Given the description of an element on the screen output the (x, y) to click on. 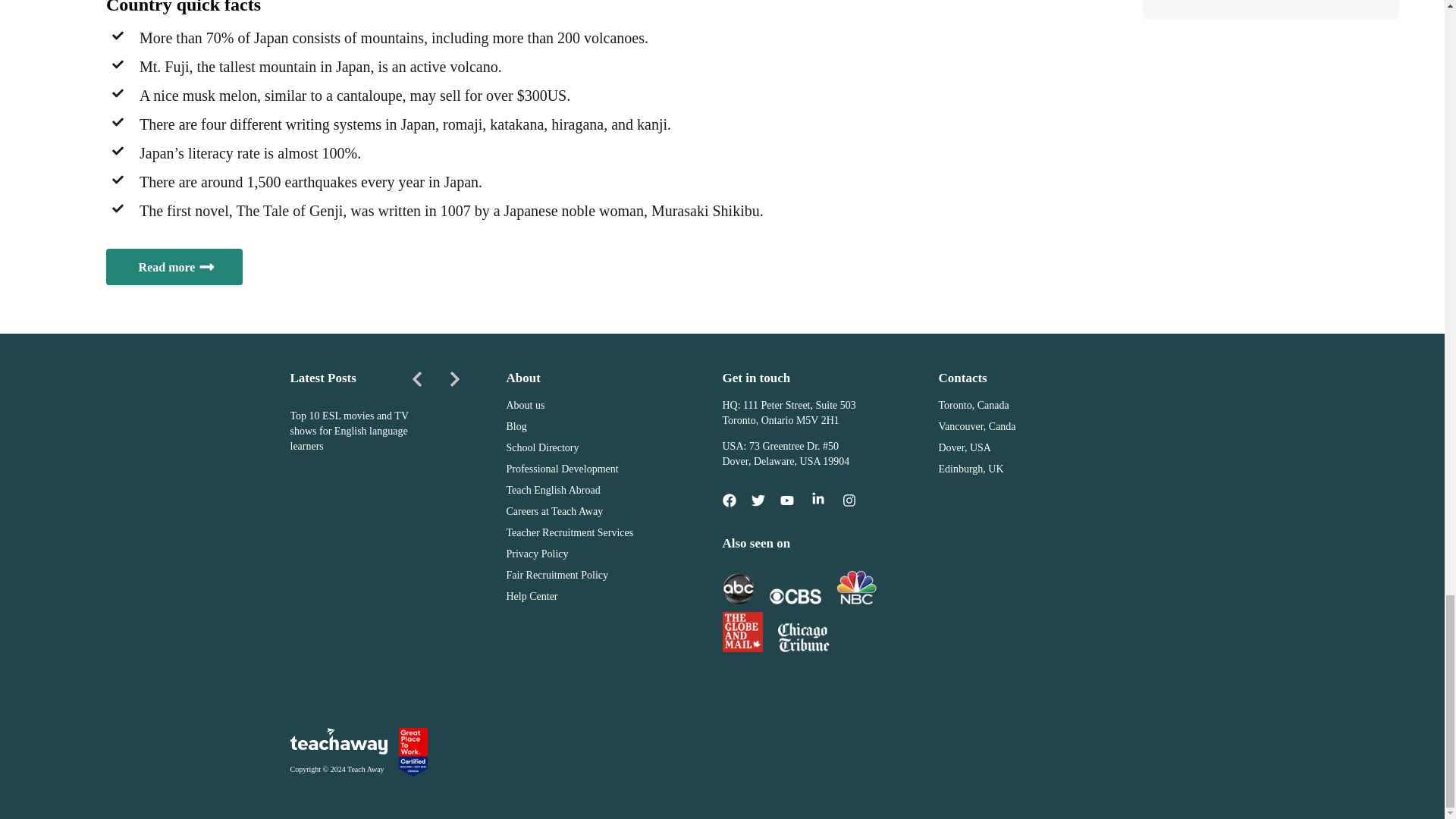
Checkmark Small Icon (117, 92)
Checkmark Small Icon (117, 150)
Checkmark Small Icon (117, 179)
Checkmark Small Icon (117, 208)
Checkmark Small Icon (117, 121)
Checkmark Small Icon (117, 35)
Checkmark Small Icon (117, 64)
